Given the description of an element on the screen output the (x, y) to click on. 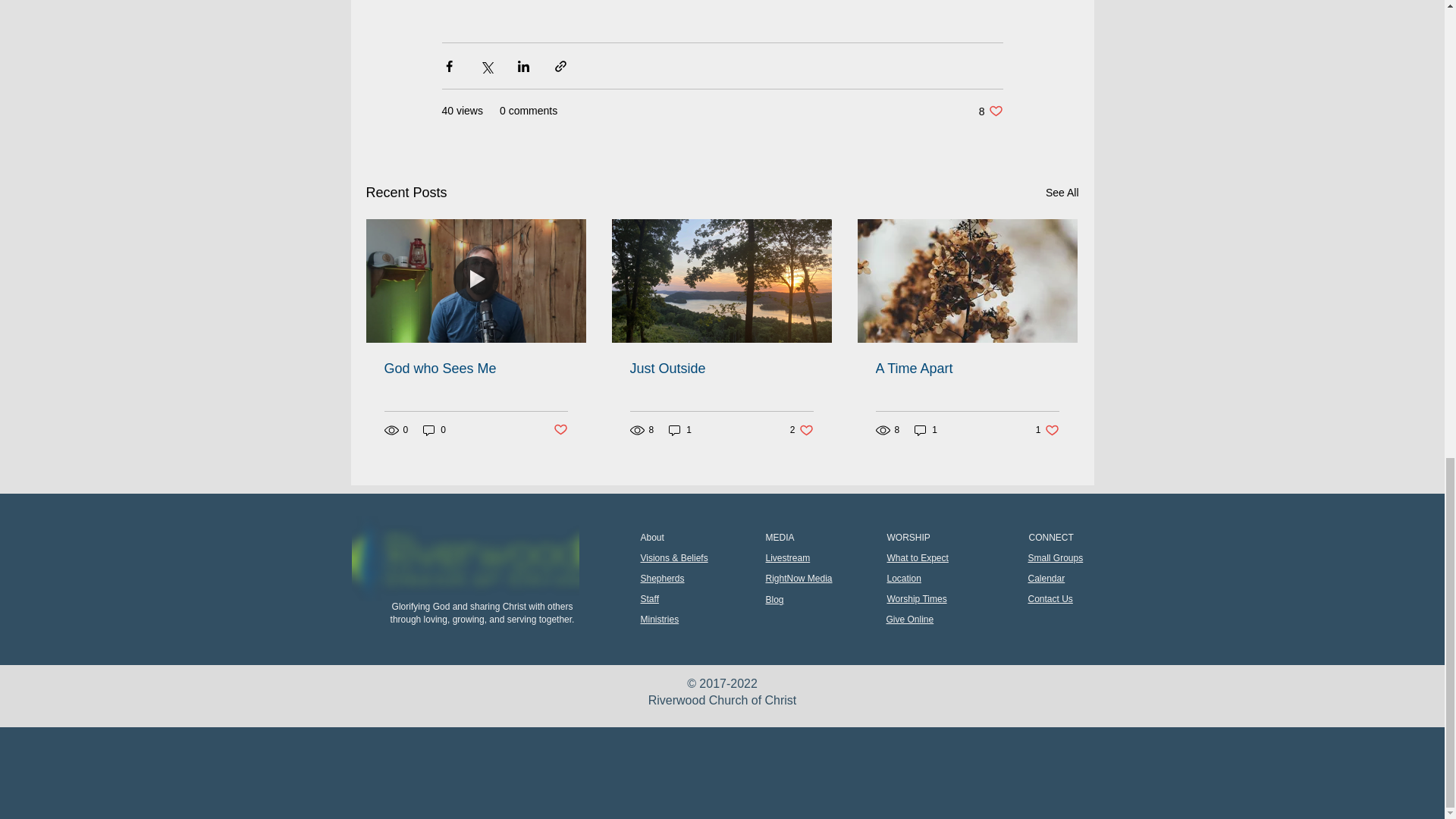
1 (925, 430)
Just Outside (720, 368)
0 (434, 430)
1 (679, 430)
See All (801, 430)
Logo3b.png (1061, 192)
A Time Apart (1047, 430)
Post not marked as liked (465, 558)
God who Sees Me (966, 368)
